Given the description of an element on the screen output the (x, y) to click on. 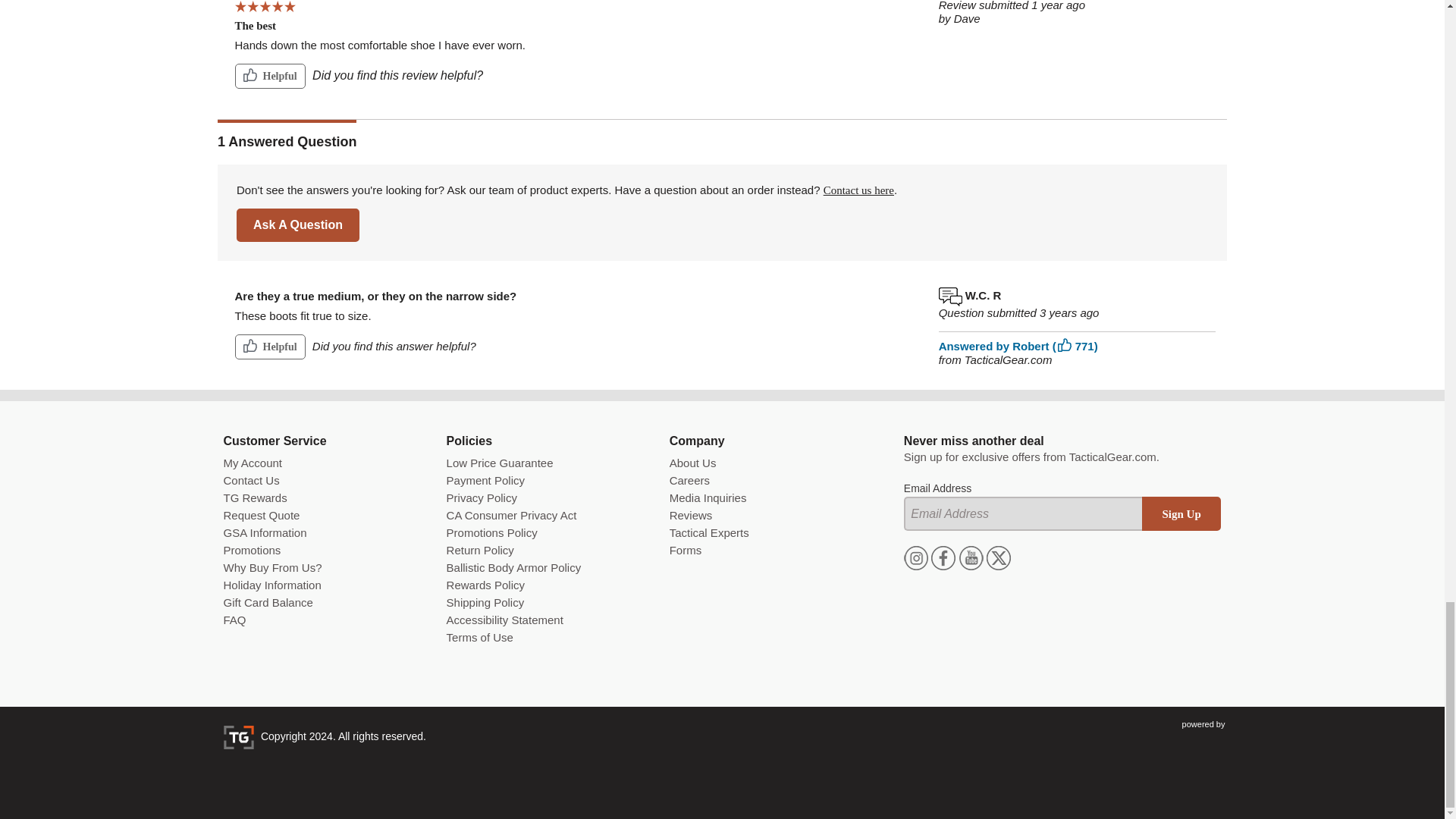
sign up (1181, 513)
